Given the description of an element on the screen output the (x, y) to click on. 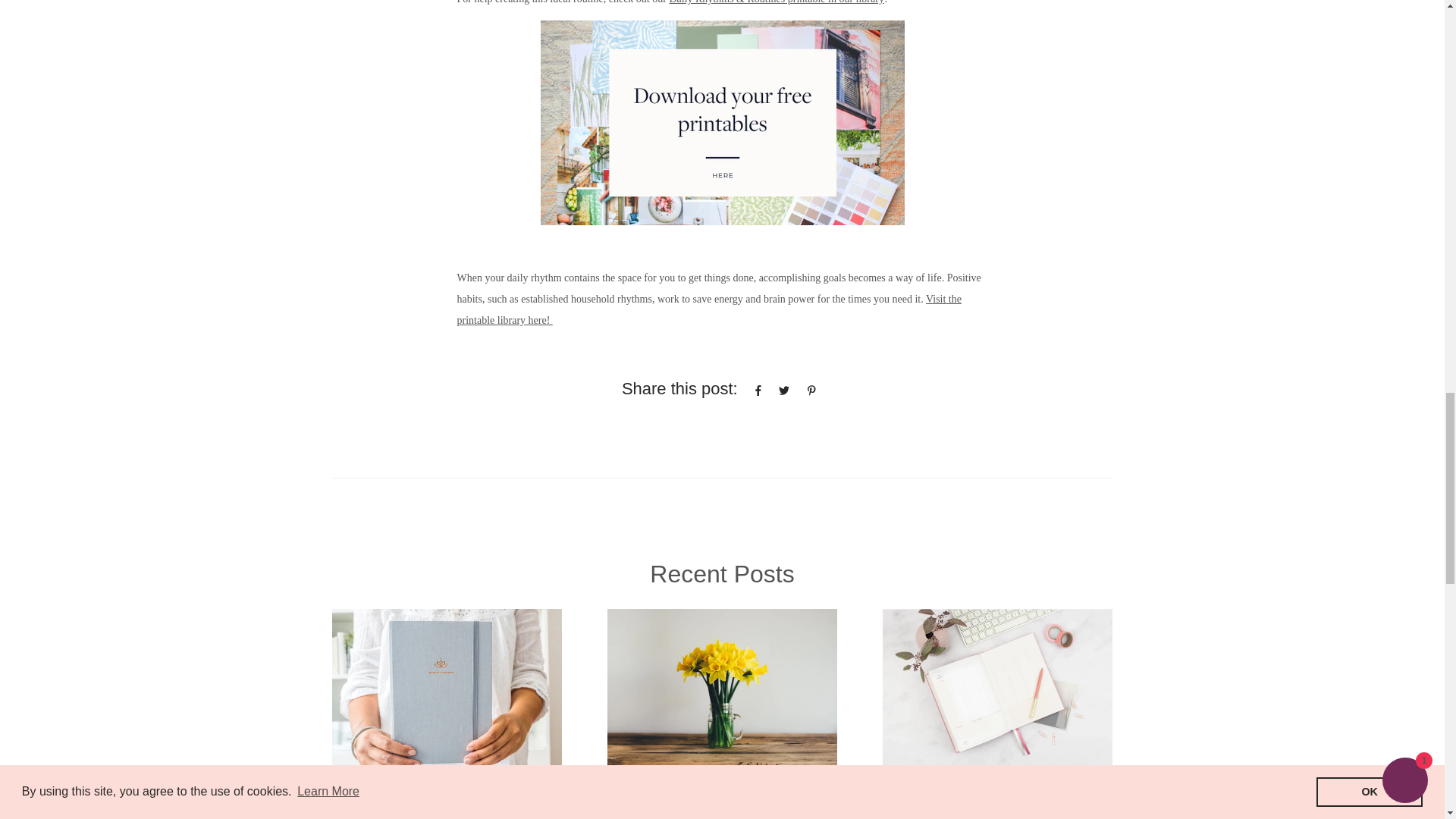
Link to Ponderlily printables (722, 122)
Visit the printable library here!  (708, 309)
Tweet on Twitter (785, 390)
